Given the description of an element on the screen output the (x, y) to click on. 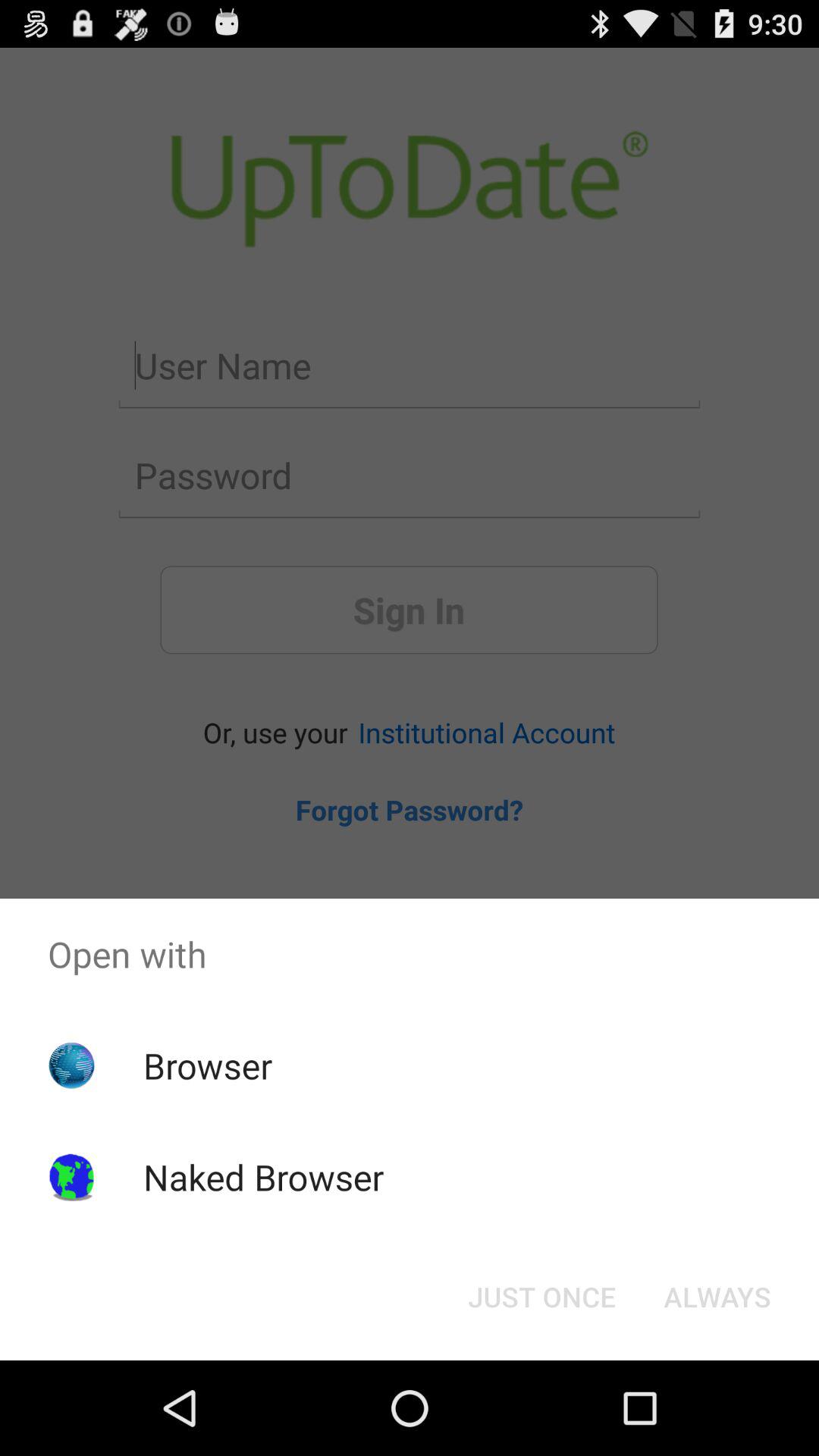
tap icon below the open with app (541, 1296)
